Given the description of an element on the screen output the (x, y) to click on. 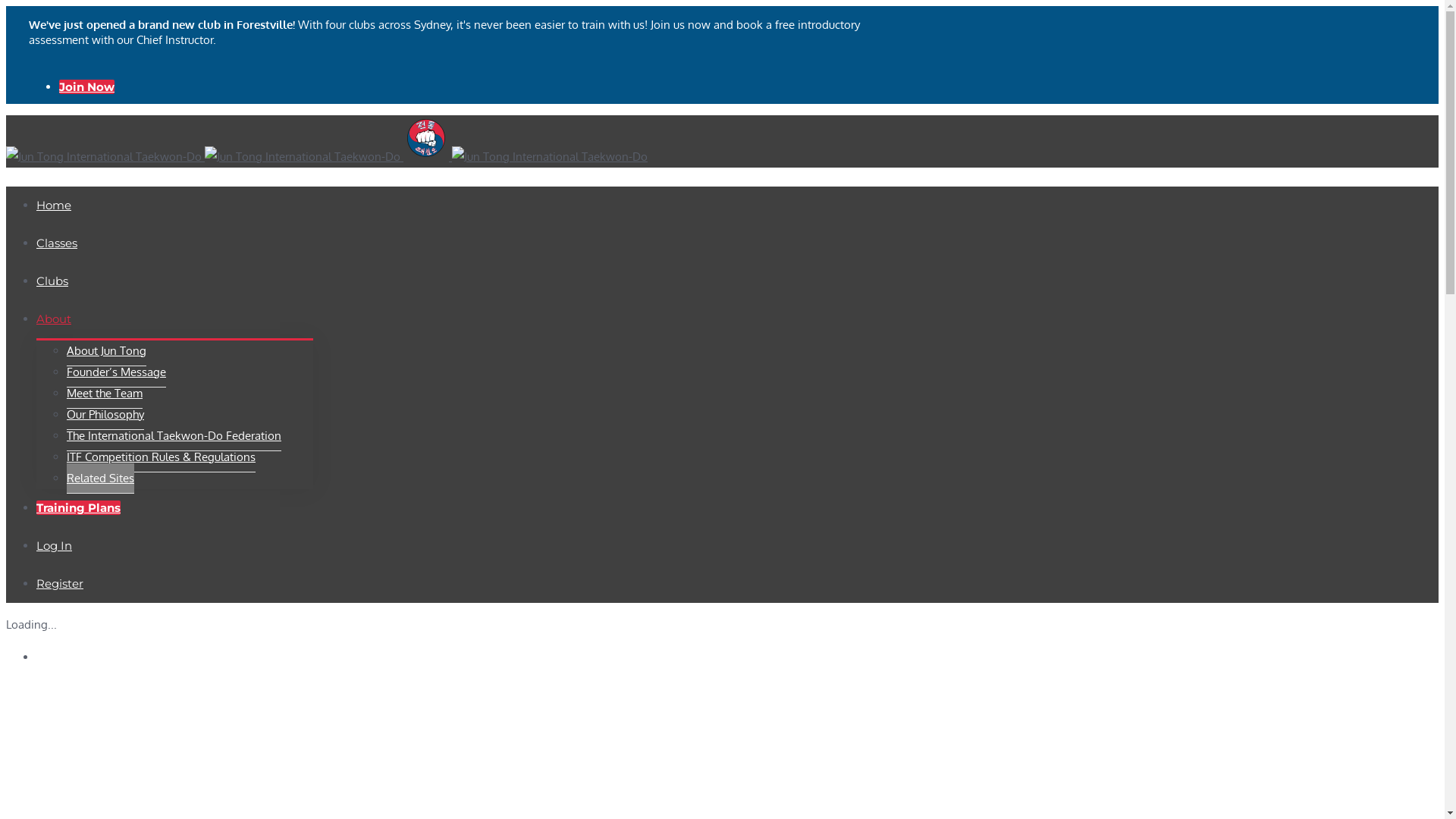
Classes Element type: text (56, 242)
The International Taekwon-Do Federation Element type: text (173, 435)
ITF Competition Rules & Regulations Element type: text (160, 457)
Join Now Element type: text (86, 86)
Register Element type: text (59, 583)
Home Element type: text (53, 204)
Clubs Element type: text (52, 280)
Training Plans Element type: text (78, 507)
Related Sites Element type: text (100, 478)
Meet the Team Element type: text (104, 393)
About Jun Tong Element type: text (106, 350)
Our Philosophy Element type: text (105, 414)
Log In Element type: text (54, 545)
About Element type: text (53, 318)
